Given the description of an element on the screen output the (x, y) to click on. 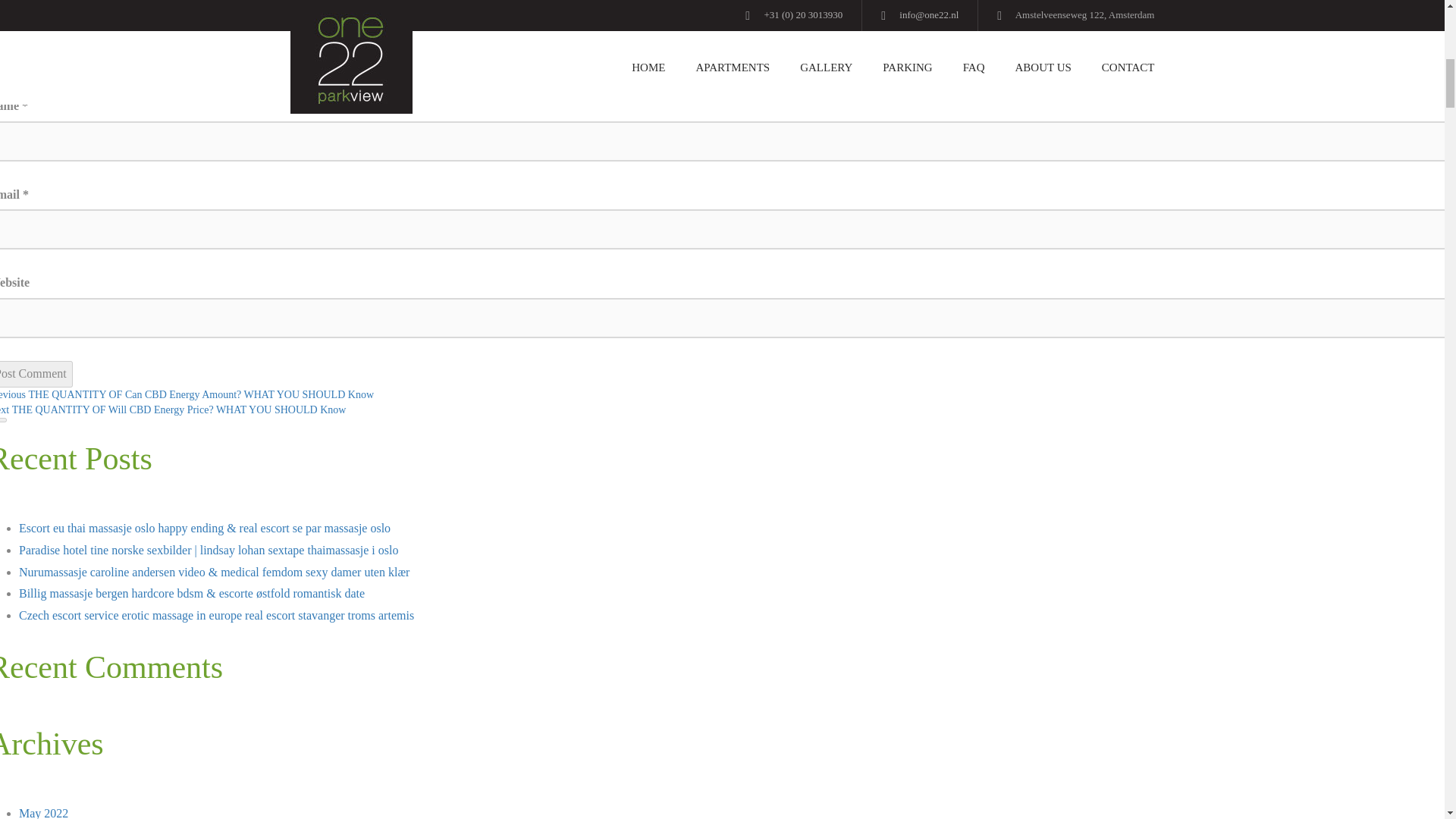
Post Comment (36, 374)
Post Comment (36, 374)
May 2022 (43, 812)
Search (3, 419)
